Given the description of an element on the screen output the (x, y) to click on. 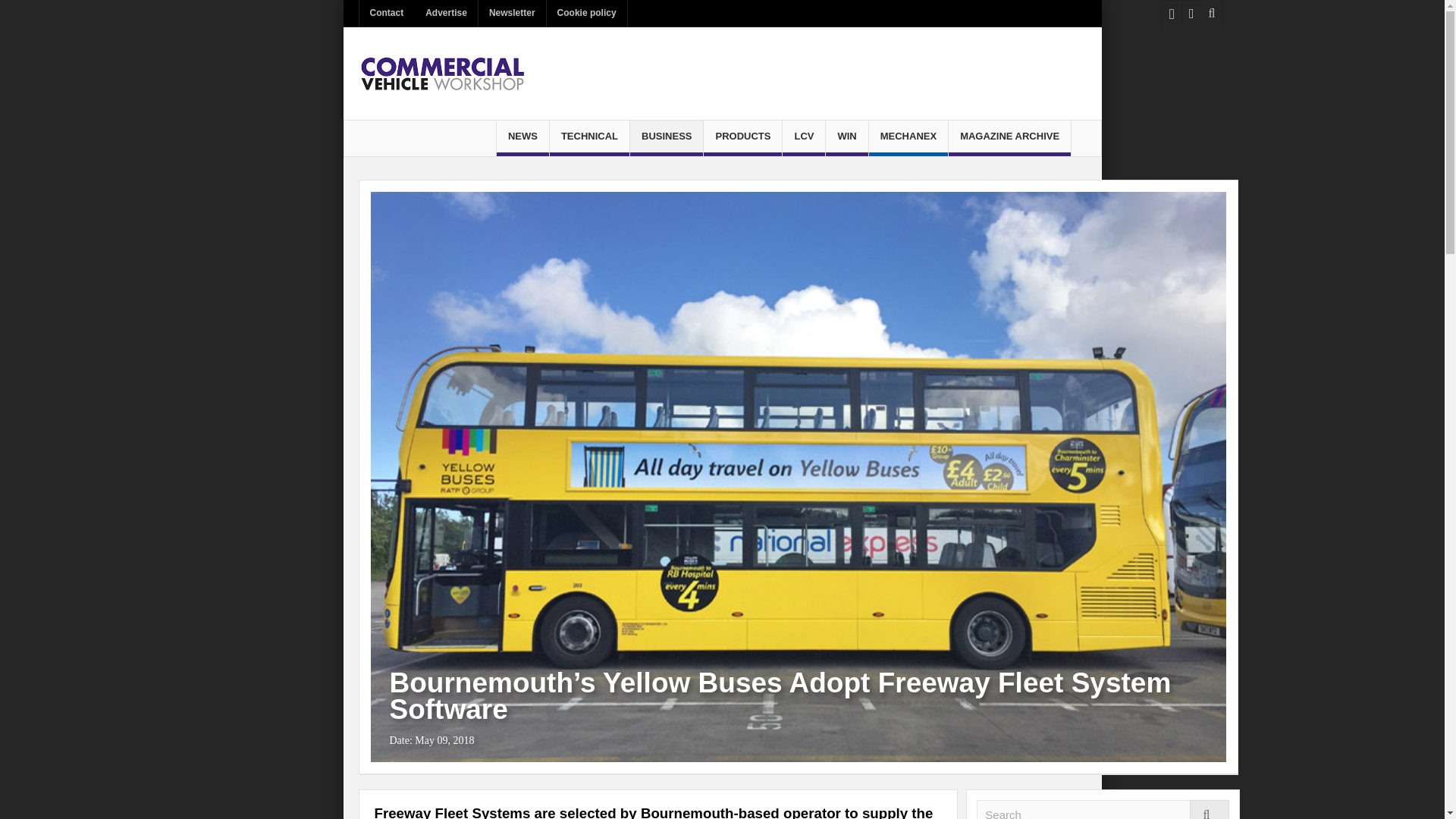
Search for: (1102, 809)
BUSINESS (666, 138)
MAGAZINE ARCHIVE (1009, 138)
Search (1102, 809)
NEWS (522, 138)
PRODUCTS (742, 138)
Advertise (445, 13)
Newsletter (512, 13)
cvw (441, 72)
LCV (804, 138)
WIN (846, 138)
MECHANEX (908, 138)
Cookie policy (587, 13)
Contact (386, 13)
TECHNICAL (589, 138)
